Given the description of an element on the screen output the (x, y) to click on. 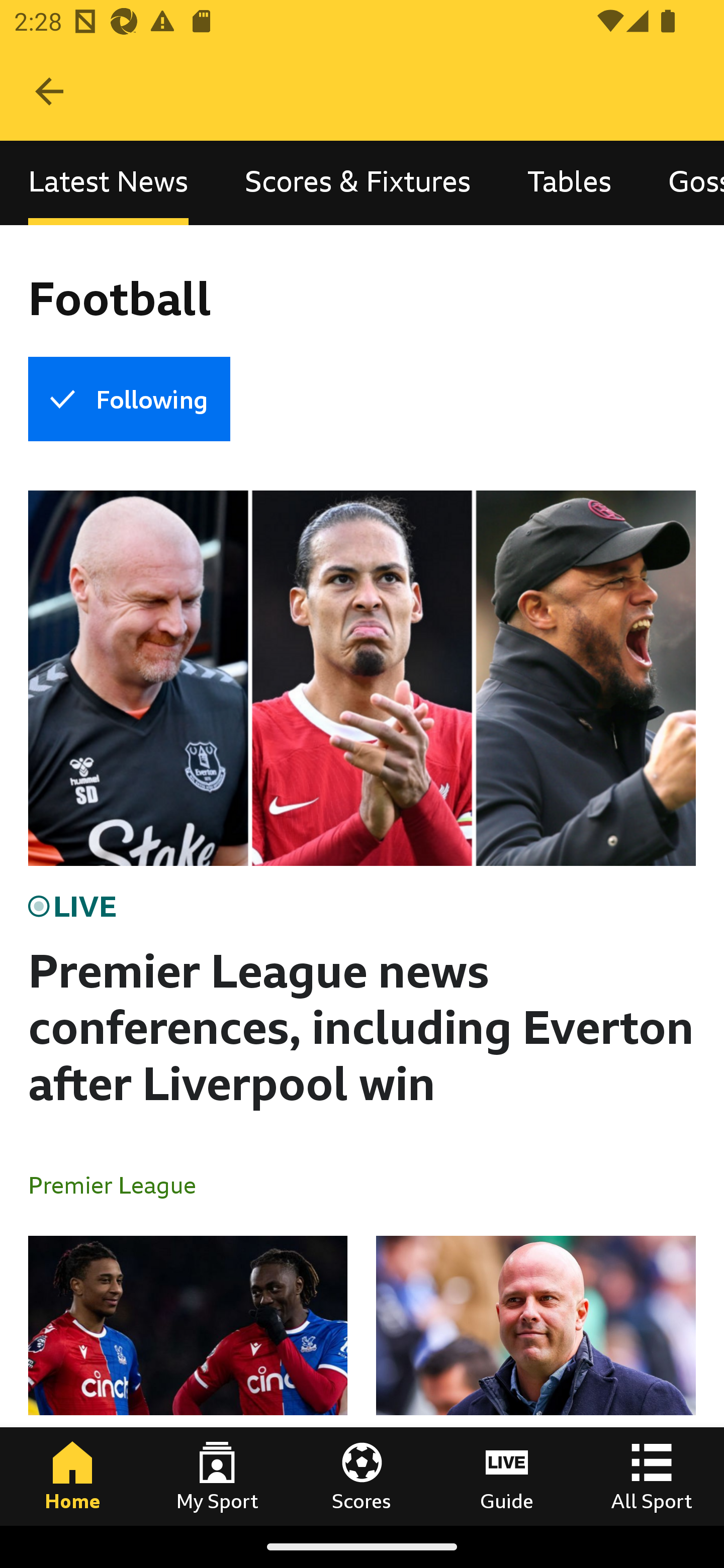
Navigate up (49, 91)
Latest News, selected Latest News (108, 183)
Scores & Fixtures (357, 183)
Tables (569, 183)
Following Football Following (129, 398)
Premier League In the section Premier League (119, 1184)
Slot philosophy could suit Liverpool - Van Dijk (535, 1380)
My Sport (216, 1475)
Scores (361, 1475)
Guide (506, 1475)
All Sport (651, 1475)
